Given the description of an element on the screen output the (x, y) to click on. 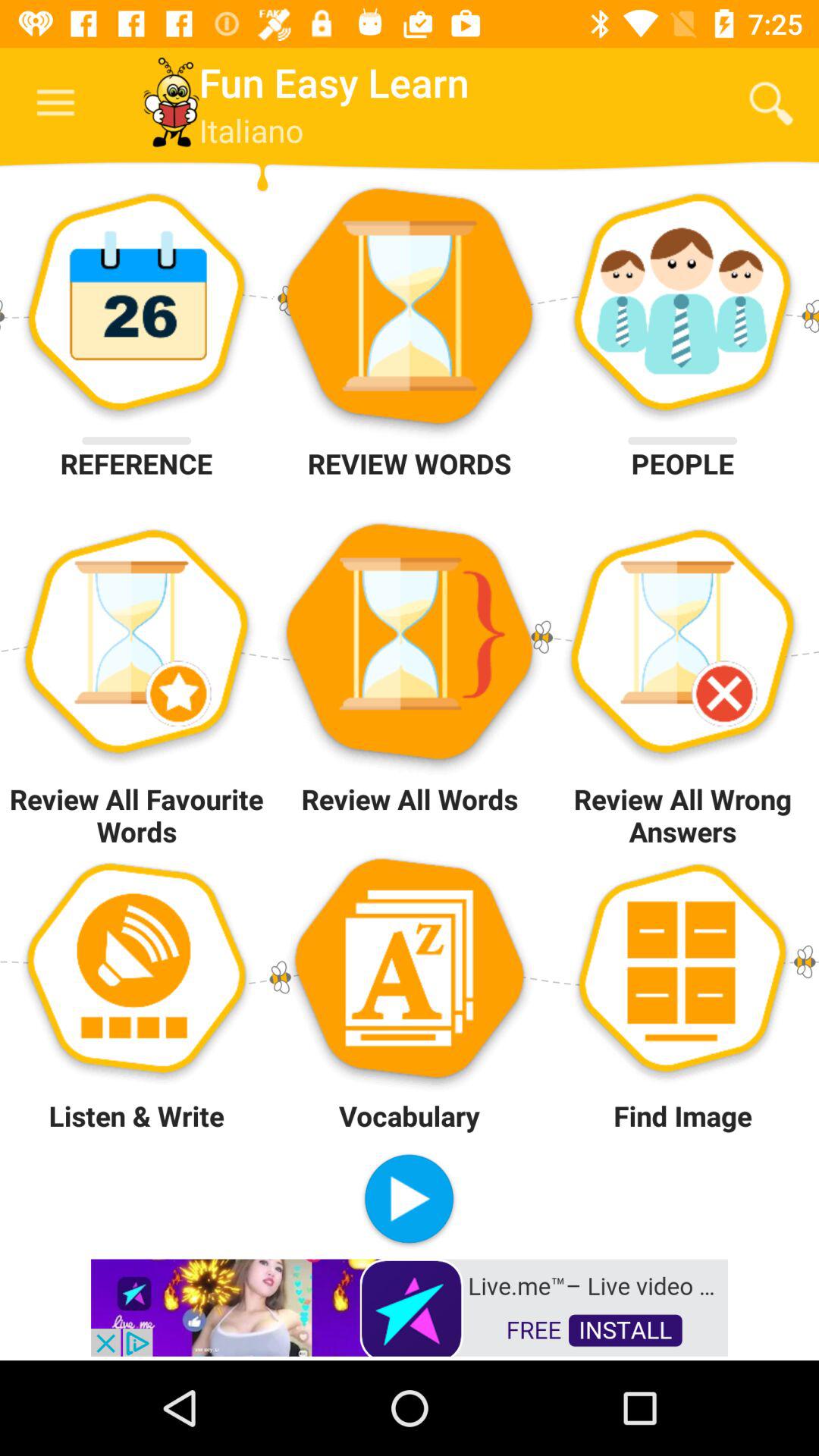
play (408, 1200)
